Given the description of an element on the screen output the (x, y) to click on. 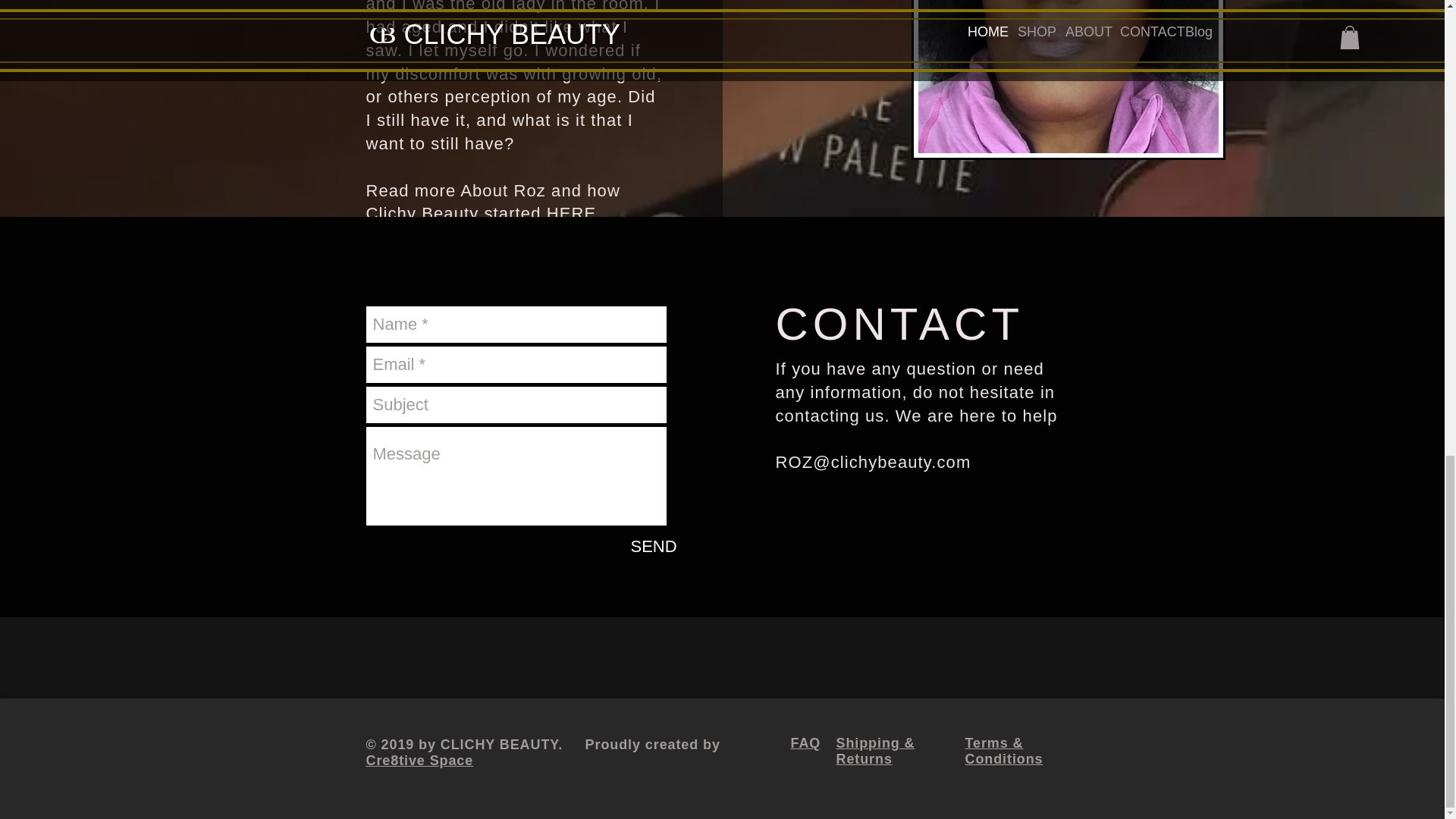
HERE (571, 212)
Cre8tive Space (419, 760)
SEND (653, 546)
FAQ (805, 743)
